Given the description of an element on the screen output the (x, y) to click on. 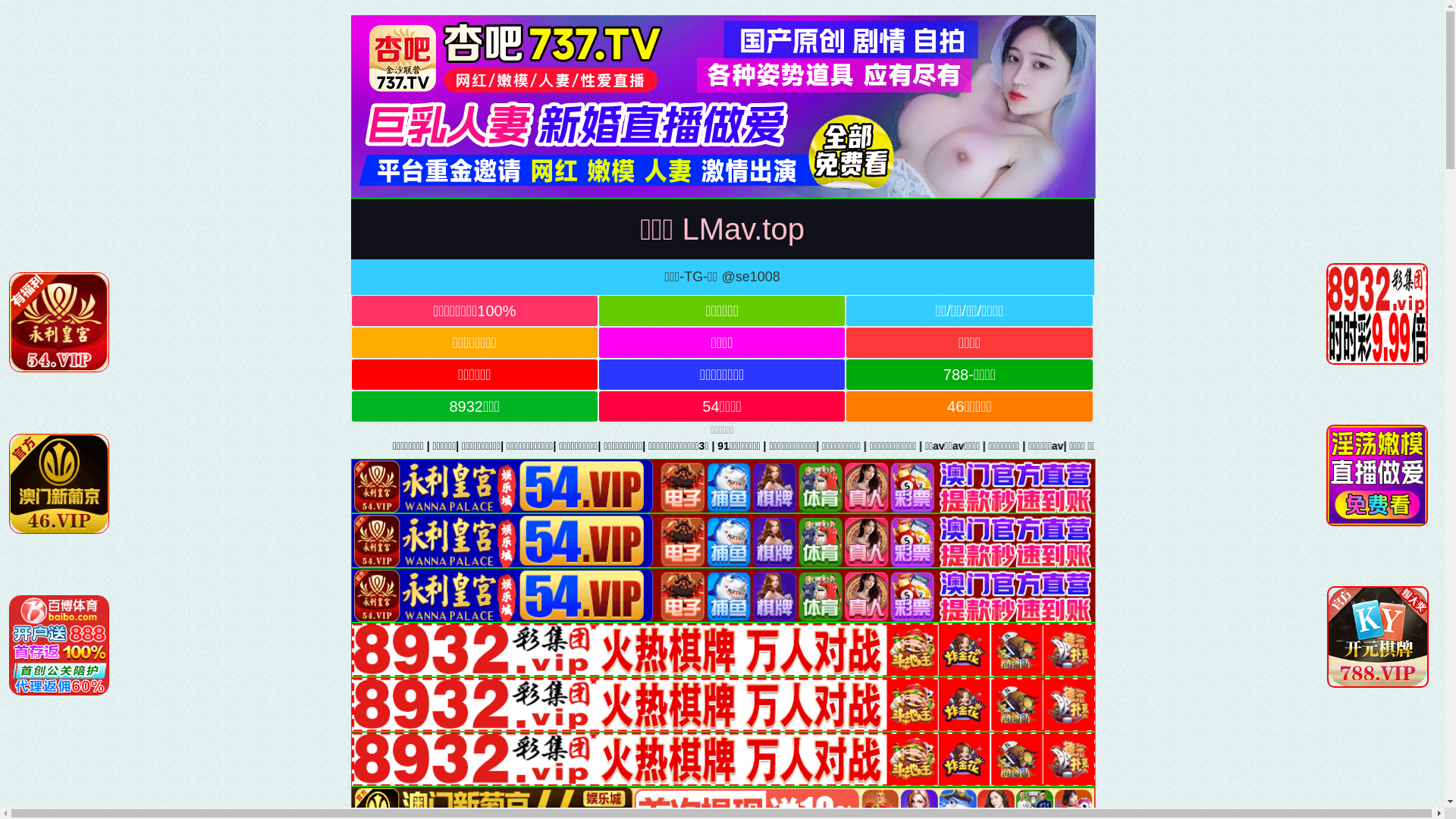
| Element type: text (1335, 445)
| Element type: text (1080, 445)
| Element type: text (1289, 445)
| Element type: text (1037, 445)
| Element type: text (1450, 445)
| Element type: text (986, 445)
| Element type: text (1190, 445)
| Element type: text (916, 445)
| Element type: text (943, 445)
| Element type: text (1239, 445)
| Element type: text (1388, 445)
| Element type: text (1123, 445)
